Given the description of an element on the screen output the (x, y) to click on. 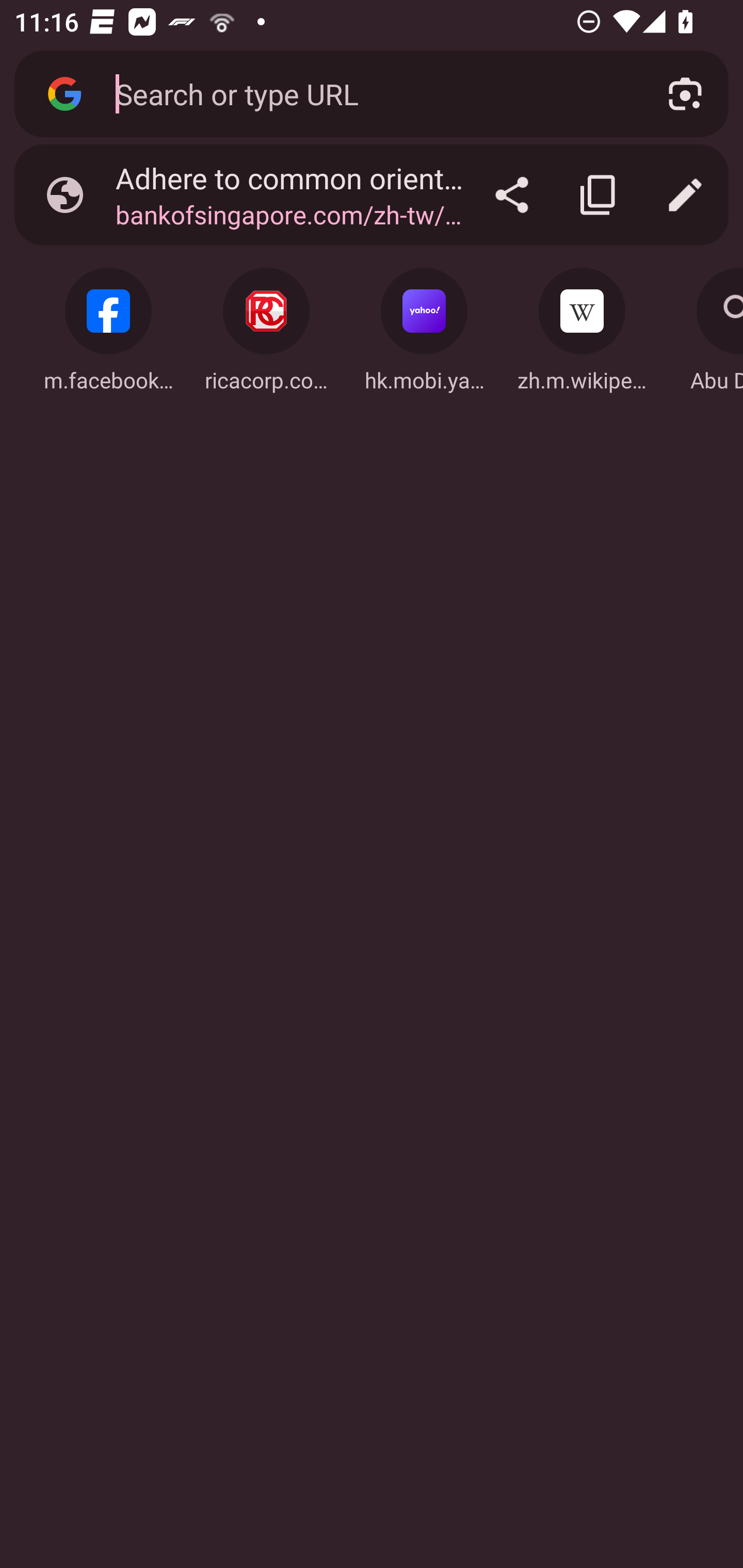
Search with your camera using Google Lens (684, 93)
Search or type URL (367, 92)
Share… (511, 195)
Copy link (598, 195)
Edit (684, 195)
Search: Abu Dhabi Abu Dhabi (705, 324)
